Given the description of an element on the screen output the (x, y) to click on. 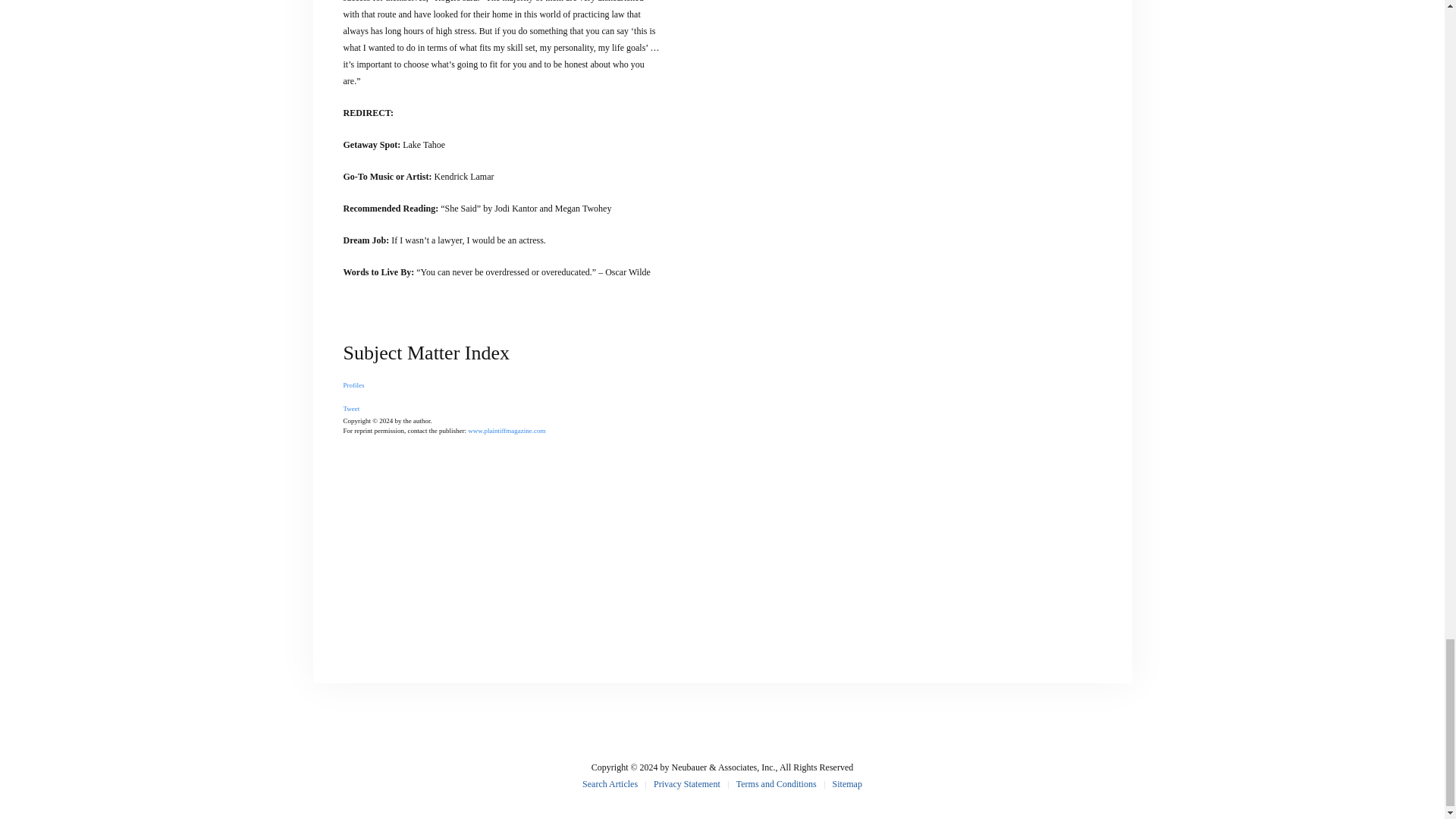
Terms and Conditions (776, 783)
www.plaintiffmagazine.com (505, 430)
Tweet (350, 408)
Profiles (353, 385)
Sitemap (846, 783)
Search Articles (609, 783)
Privacy Statement (686, 783)
